Given the description of an element on the screen output the (x, y) to click on. 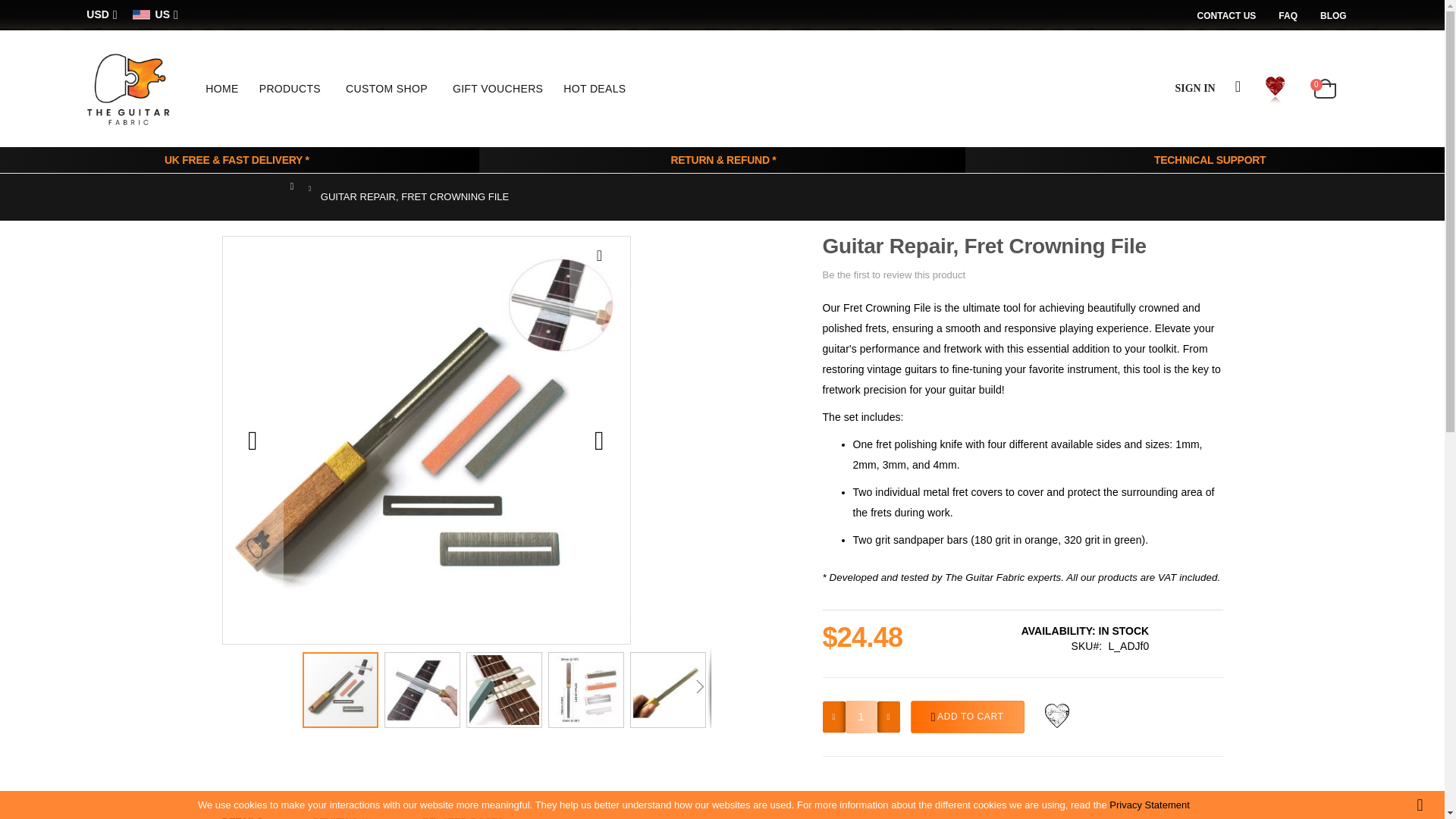
PRODUCTS (292, 88)
1 (860, 717)
HOME (221, 88)
FAQ (1287, 15)
CONTACT US (1232, 15)
BLOG (1333, 15)
The Guitar Fabric (127, 88)
PRODUCTS (292, 88)
